Given the description of an element on the screen output the (x, y) to click on. 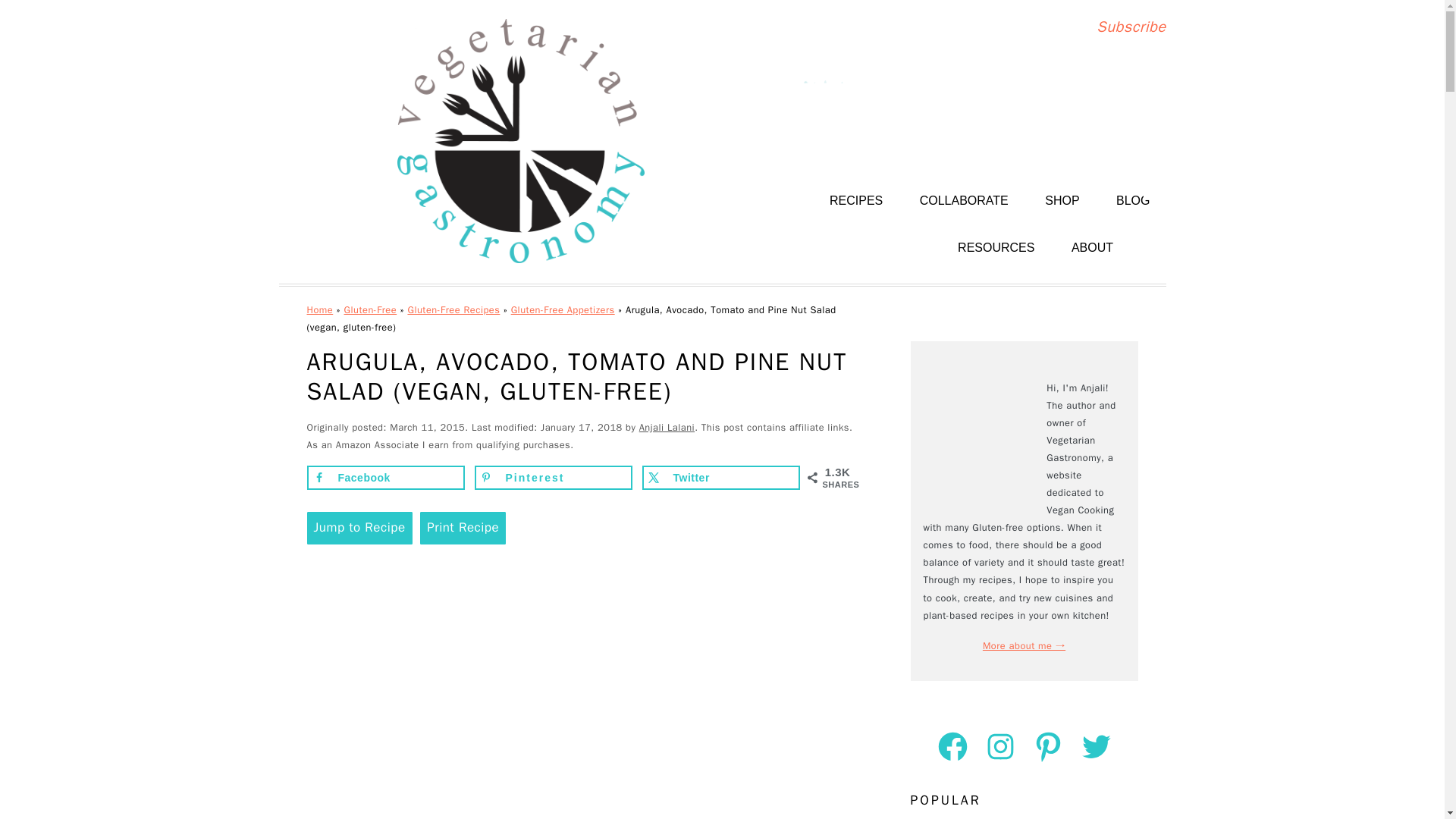
Search (1154, 180)
ABOUT (1092, 247)
COLLABORATE (964, 201)
Subscribe (1131, 26)
Facebook (384, 477)
Save to Pinterest (552, 477)
Resources (995, 247)
Share on X (720, 477)
Anjali Lalani (666, 427)
RESOURCES (995, 247)
Search (1154, 180)
Vegetarian Gastronomy (520, 141)
Gluten-Free (370, 309)
Home (319, 309)
